Given the description of an element on the screen output the (x, y) to click on. 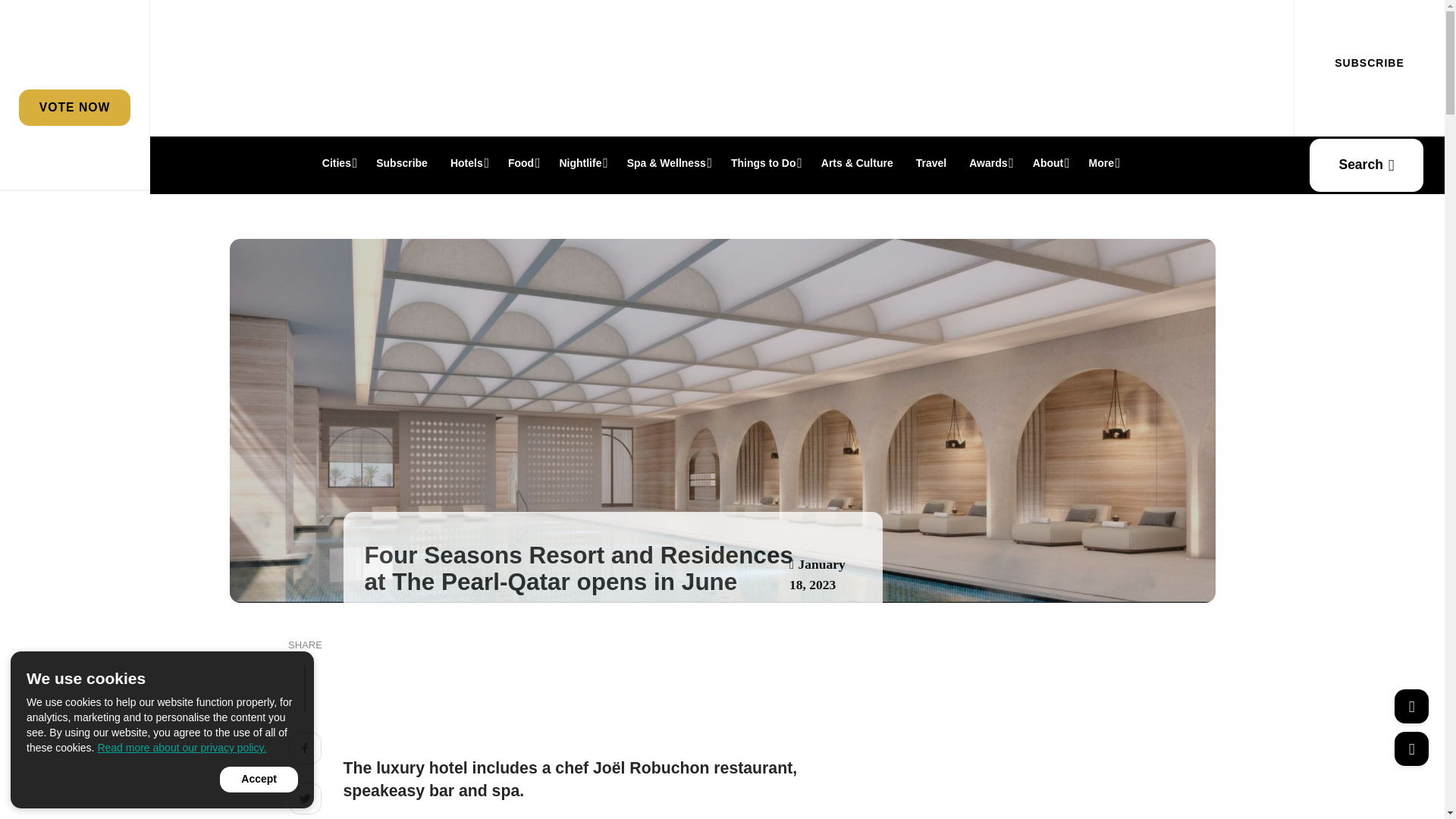
VOTE NOW (74, 107)
Cities (338, 162)
Share on Twitter (304, 800)
Nightlife (580, 162)
January 18, 2023 at 7:52 am (817, 574)
Hotels (467, 162)
Subscribe (402, 162)
Food (521, 162)
SUBSCRIBE (1369, 63)
Share on Facebook (304, 750)
